Given the description of an element on the screen output the (x, y) to click on. 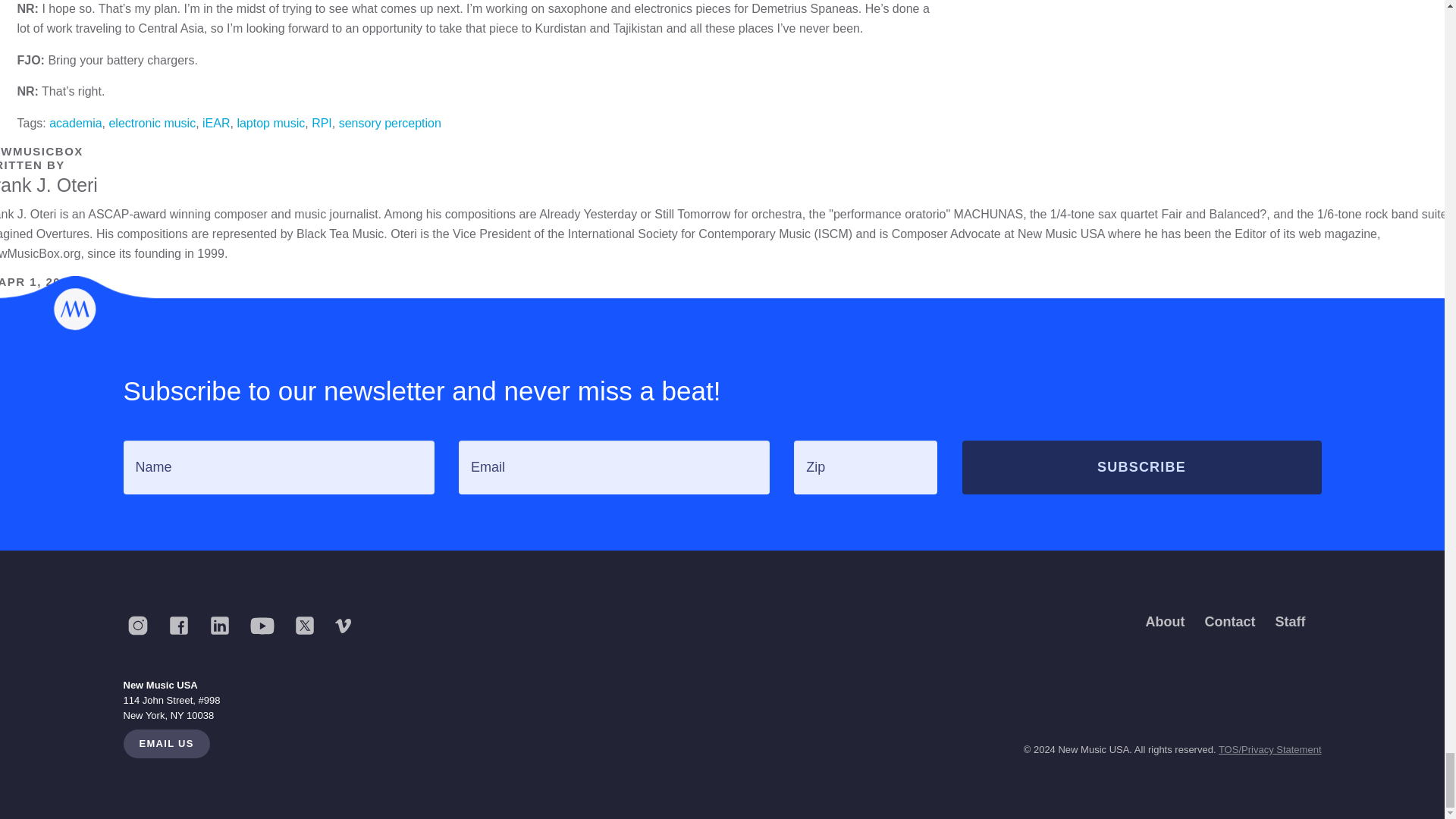
New Music USA Instagram (142, 624)
New Music USA LinkedIn (225, 624)
New Music USA Vimeo (349, 626)
New Music USA YouTube (267, 625)
New Music USA Facebook (184, 624)
New Music USA Twitter (310, 624)
Subscribe (1140, 467)
